Given the description of an element on the screen output the (x, y) to click on. 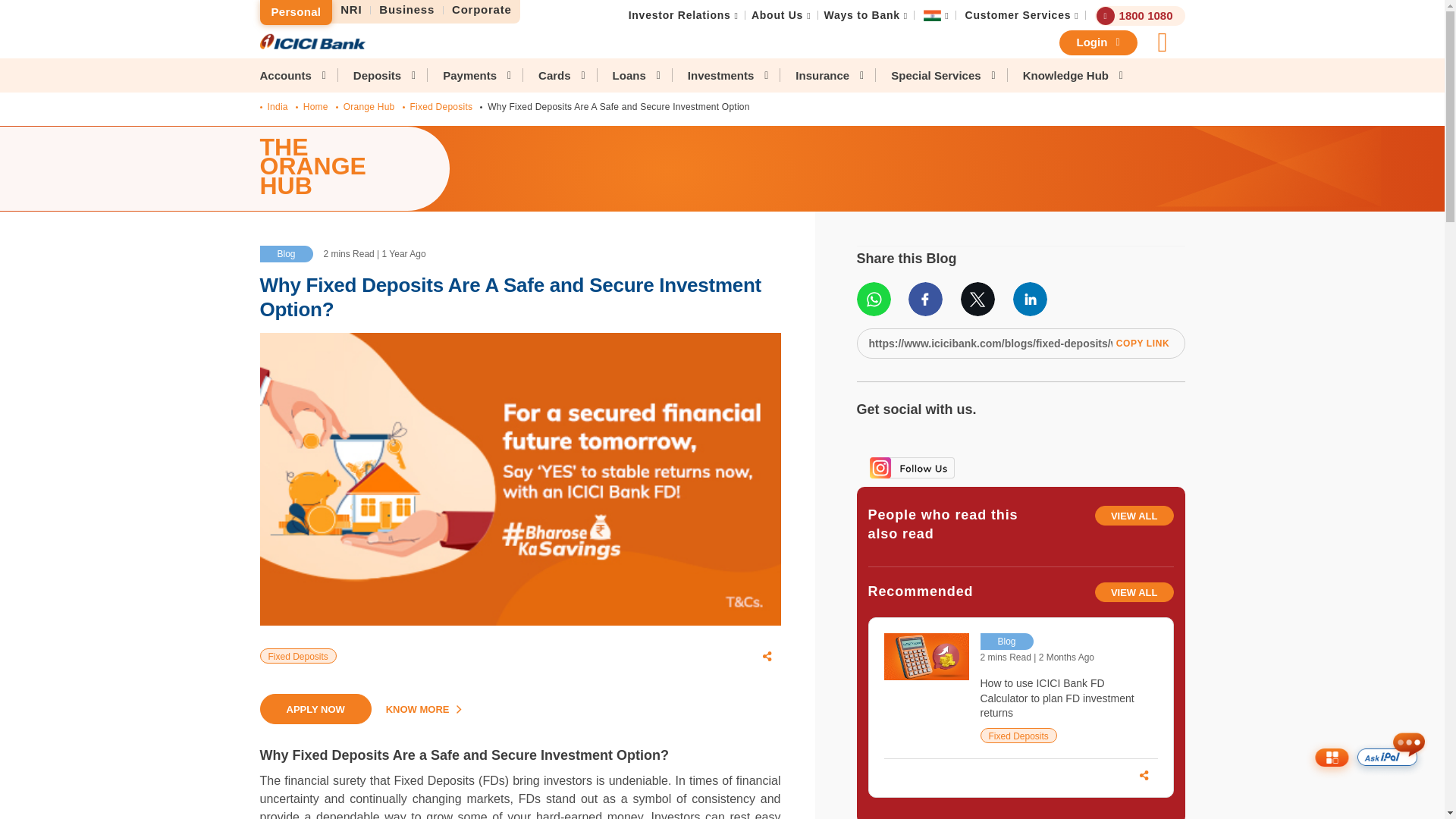
Customer Services (1018, 15)
About Us (777, 15)
Investor Relations (679, 15)
Ways to Bank (861, 15)
Corporate (481, 9)
NRI (351, 9)
Personal (295, 12)
Business (407, 9)
